Given the description of an element on the screen output the (x, y) to click on. 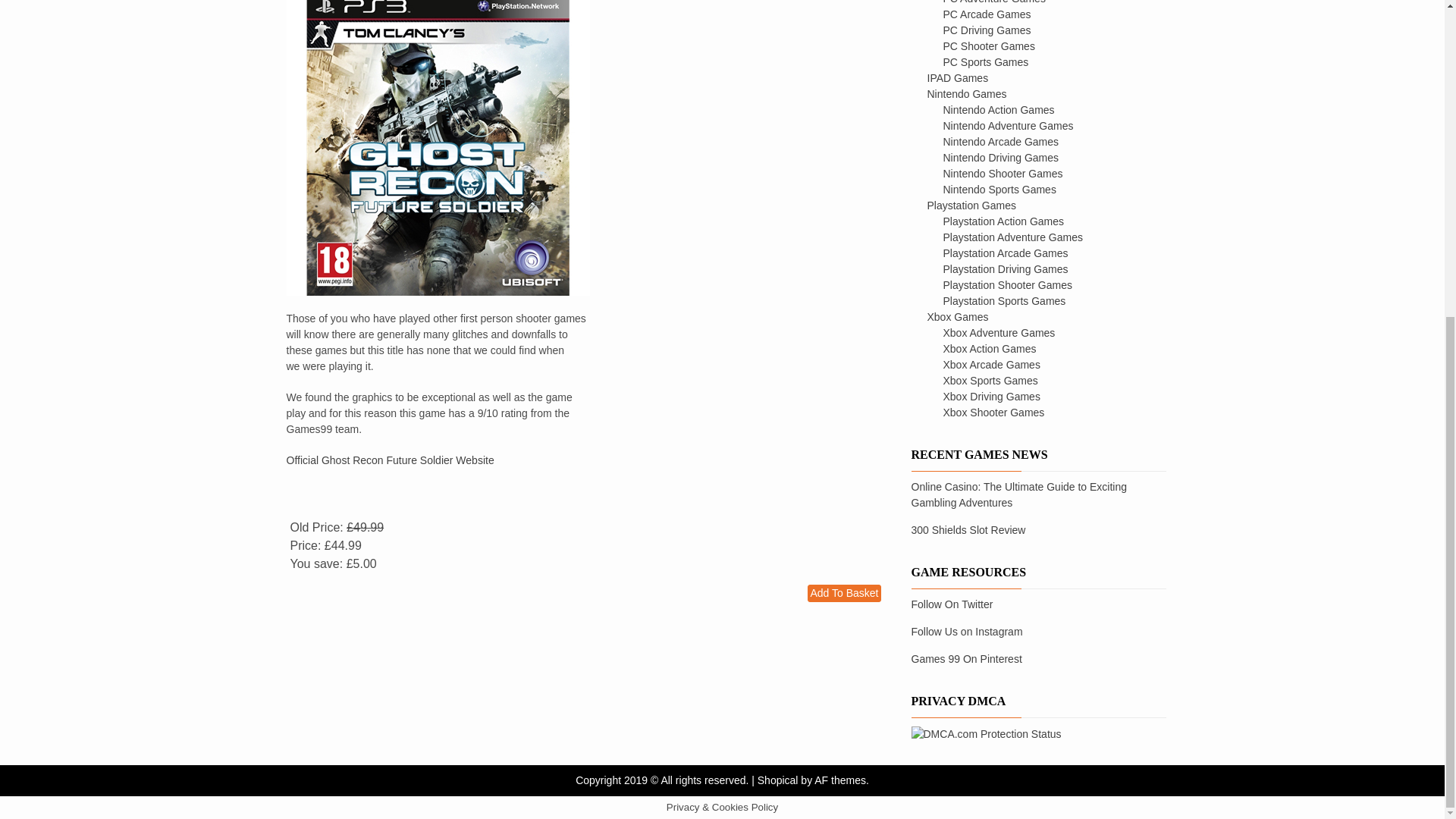
Add To Basket (844, 592)
Official Ghost Recon Future Soldier Website (390, 460)
Add To Basket (844, 592)
Games 99 On Pinterest (966, 658)
DMCA.com Protection Status (986, 733)
Official Ghost Recon Future Soldier Website (390, 460)
PS3 Ghost Recon Future Soldier (437, 147)
